Given the description of an element on the screen output the (x, y) to click on. 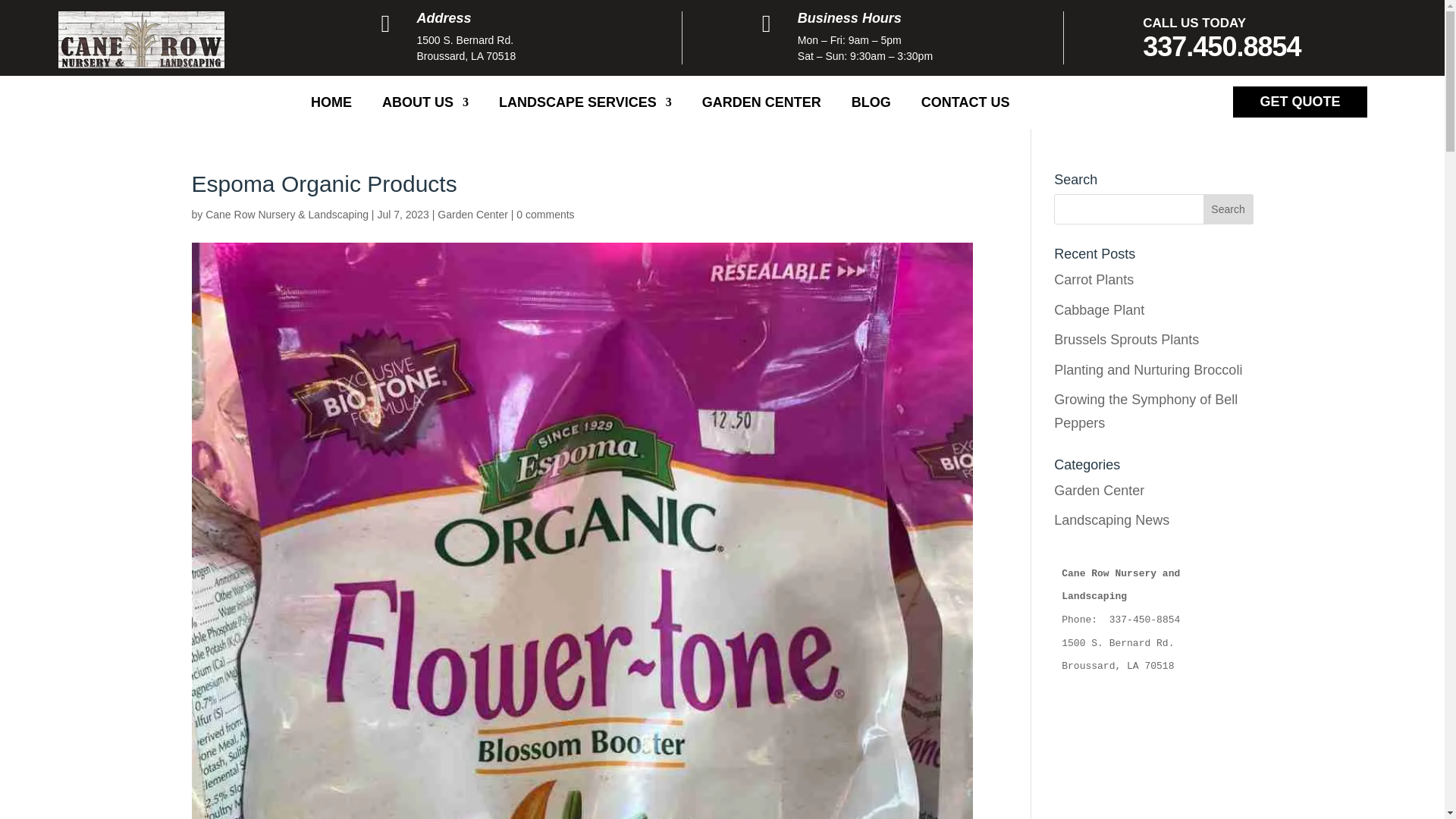
CONTACT US (965, 105)
HOME (331, 105)
LANDSCAPE SERVICES (585, 105)
GET QUOTE (1300, 101)
Search (1228, 209)
BLOG (871, 105)
GARDEN CENTER (761, 105)
ABOUT US (424, 105)
Cane Row Landscaping Lafayette LA Logo (141, 39)
